Given the description of an element on the screen output the (x, y) to click on. 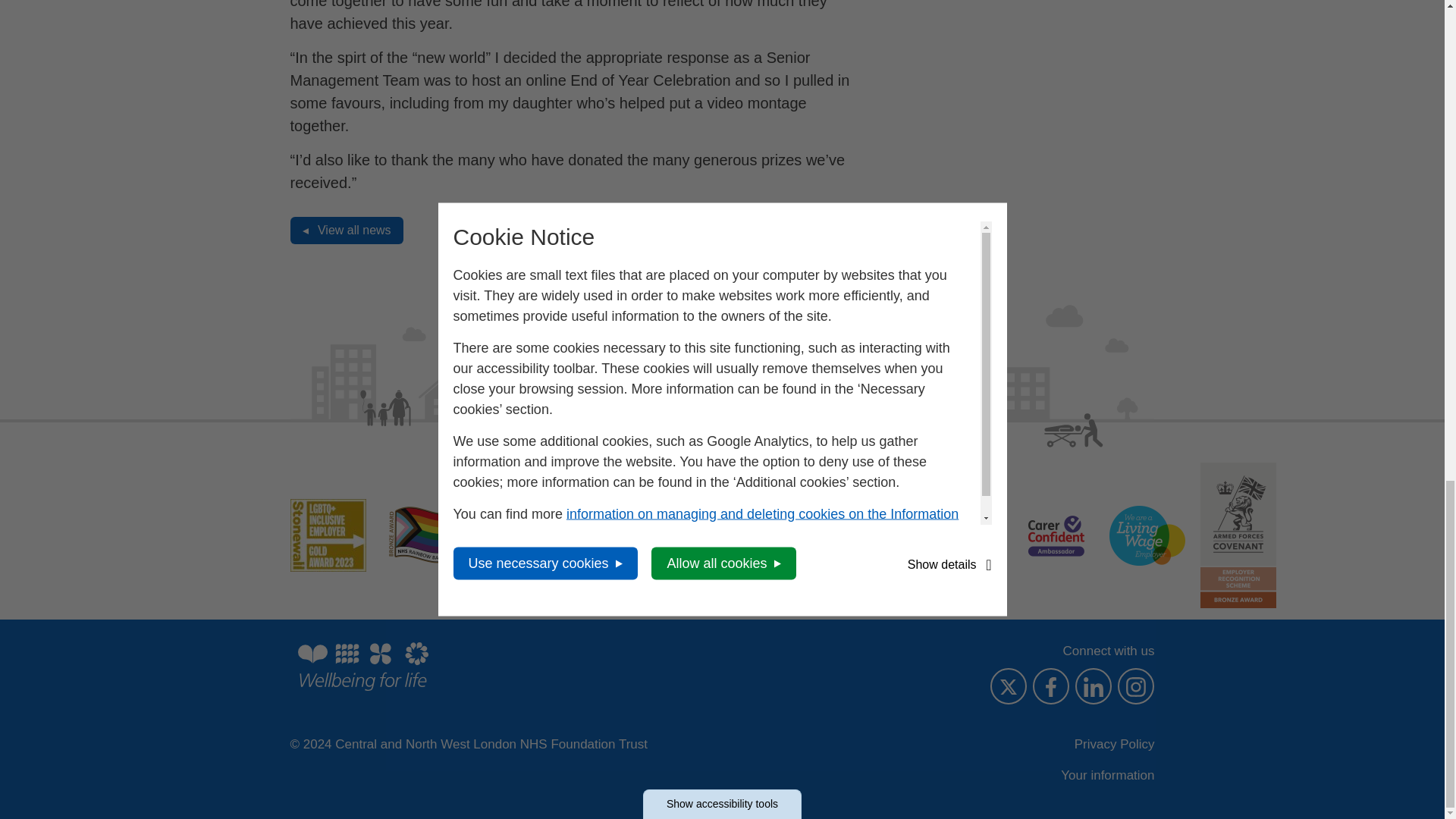
Facebook (1050, 685)
LinkedIn (1093, 685)
X (1008, 685)
Instagram (1136, 685)
